Given the description of an element on the screen output the (x, y) to click on. 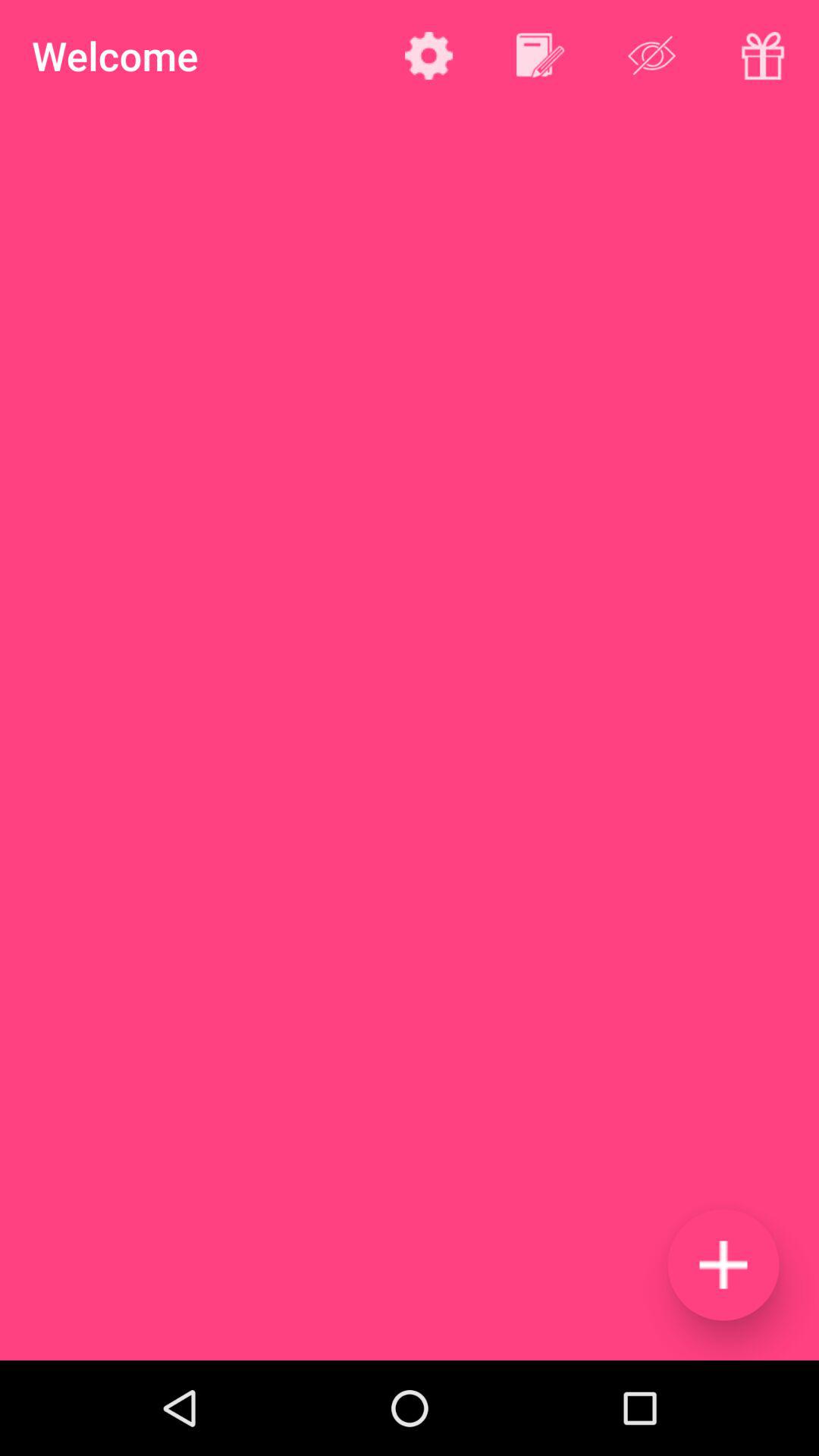
opens a gift menu (763, 55)
